Given the description of an element on the screen output the (x, y) to click on. 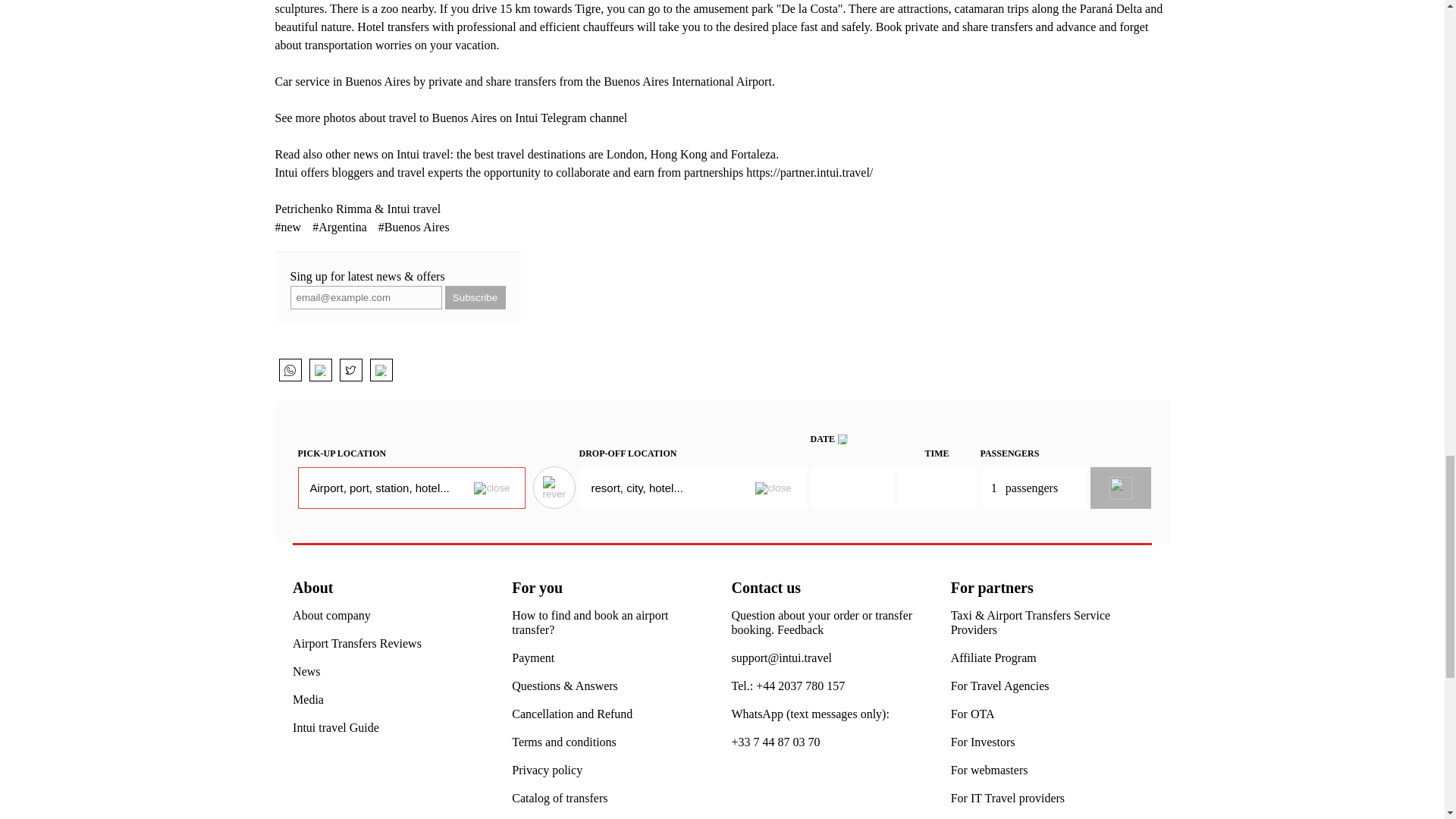
Payment (533, 657)
News (306, 671)
Cancellation and Refund  (571, 713)
Airport Transfers Reviews (357, 643)
Terms and conditions (563, 741)
How to find and book an airport transfer? (612, 622)
Intui travel Guide (335, 727)
Media (307, 699)
About company (331, 615)
Privacy policy (547, 769)
